Given the description of an element on the screen output the (x, y) to click on. 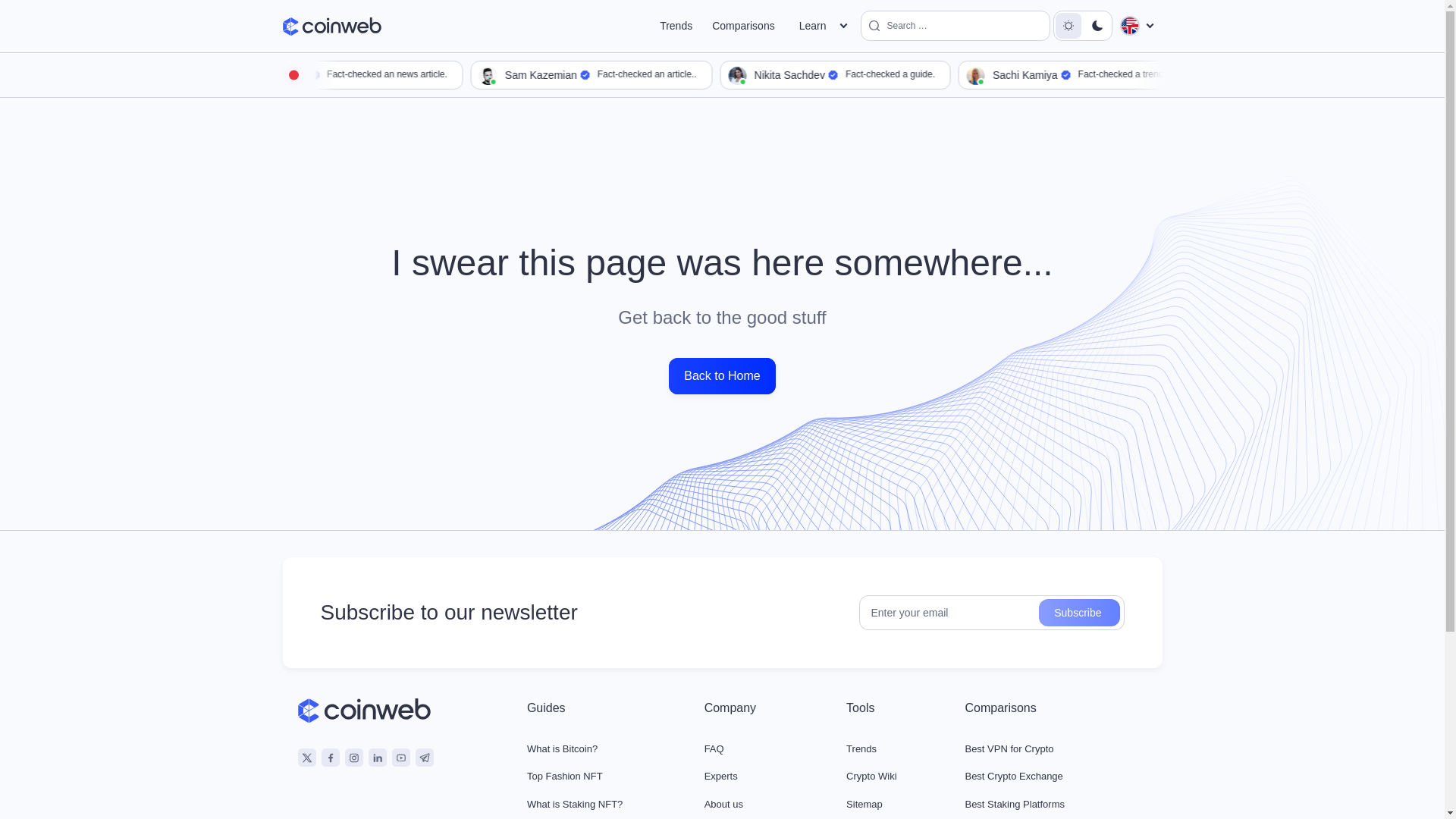
Trends (915, 74)
Back to Home (423, 74)
Search (676, 26)
Light Mode (721, 375)
Search for: (1068, 25)
Comparisons (1079, 612)
Subscribe (954, 25)
English (742, 26)
Dark Mode (673, 74)
Learn (1079, 612)
